Given the description of an element on the screen output the (x, y) to click on. 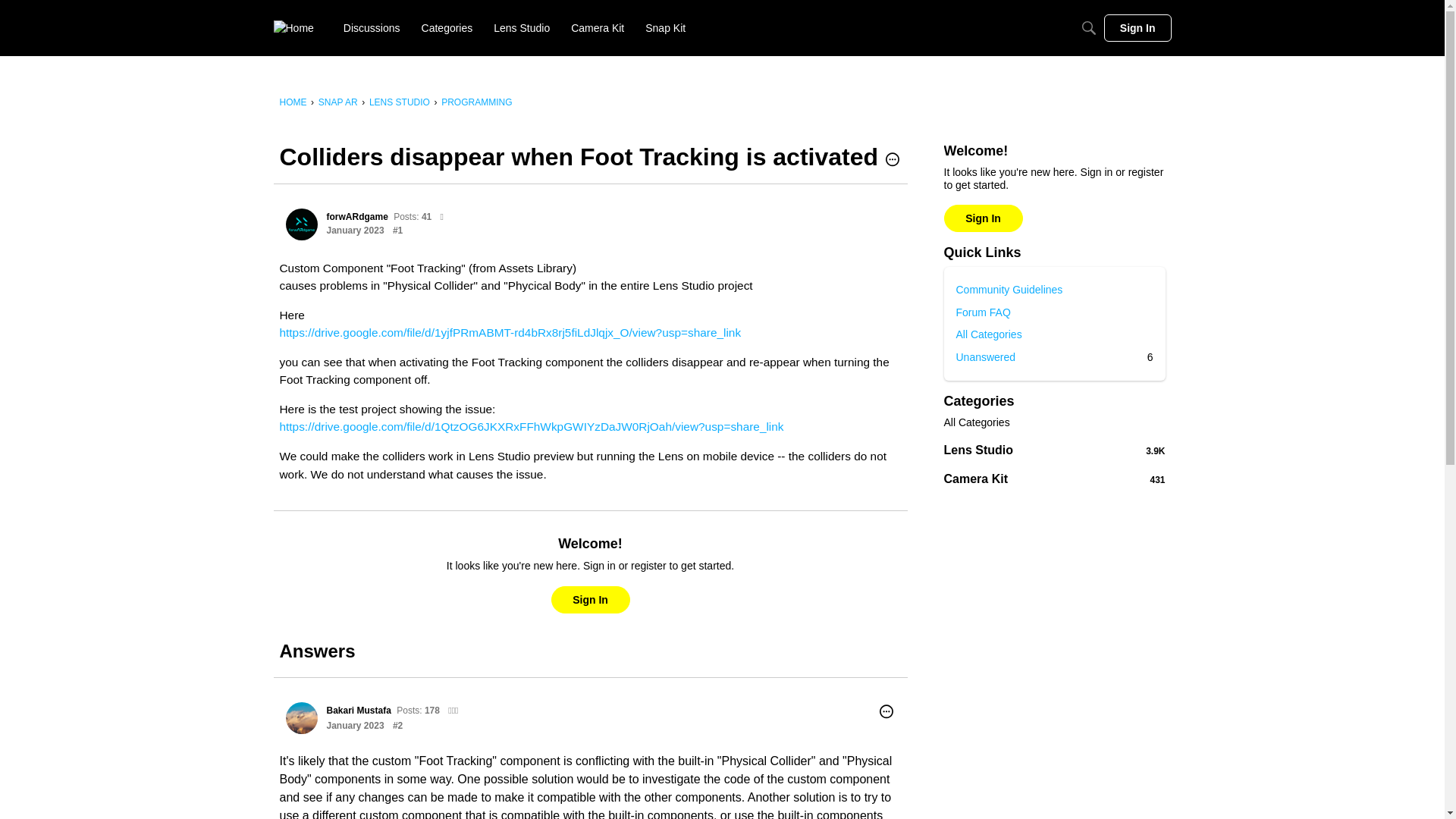
Bakari Mustafa (301, 717)
Sign In (1137, 27)
Snap Kit (665, 27)
All Categories (1054, 334)
Community Guidelines (1054, 290)
PROGRAMMING (476, 102)
Sign In (589, 599)
forwARdgame (301, 224)
LENS STUDIO (1054, 356)
SNAP AR (399, 102)
Categories (338, 102)
Options (446, 27)
Sign In (1088, 27)
